Given the description of an element on the screen output the (x, y) to click on. 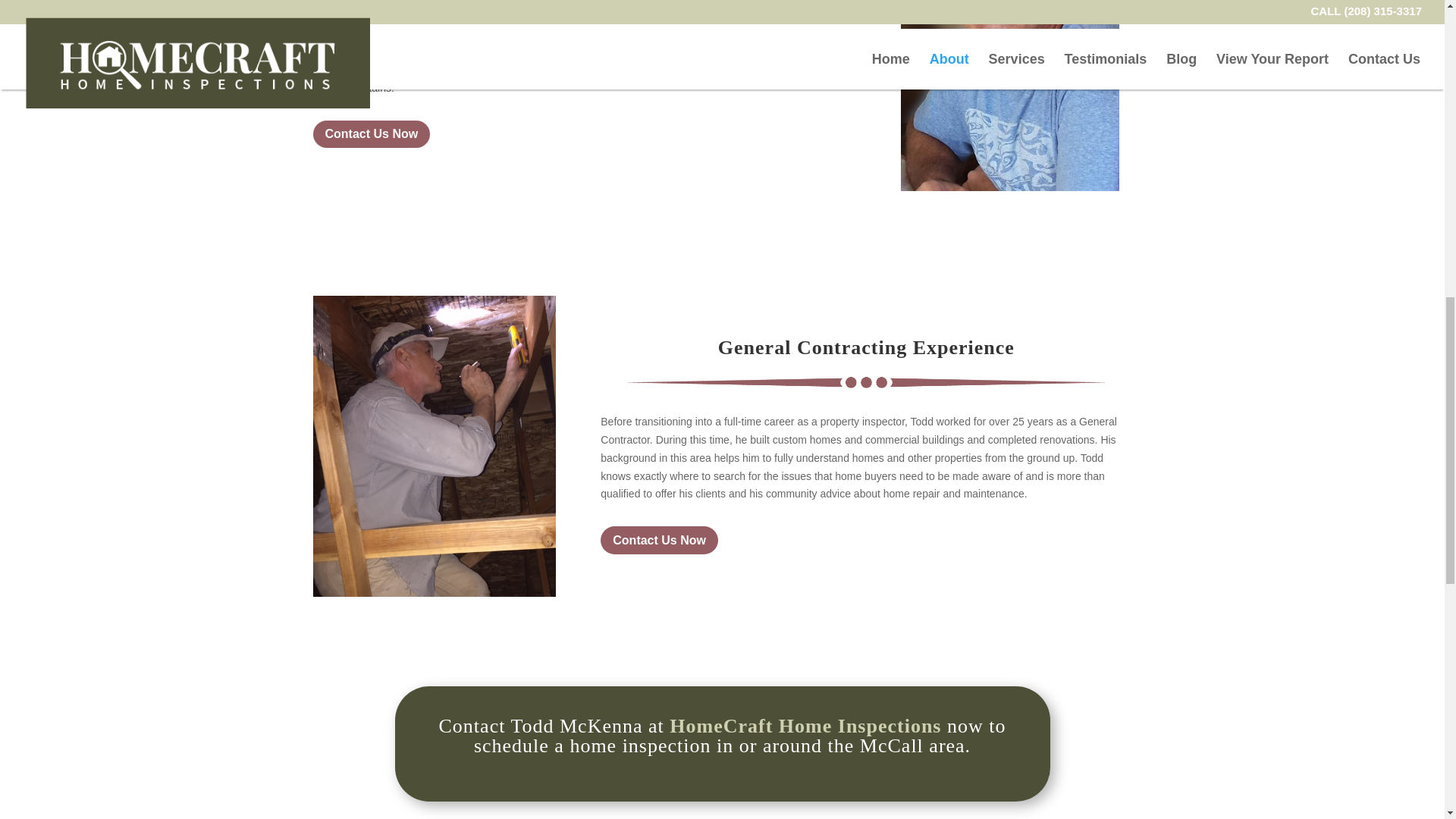
Contact Us Now (658, 540)
Contact Us Now (371, 134)
HomeCraft Home Inspections (804, 725)
